Given the description of an element on the screen output the (x, y) to click on. 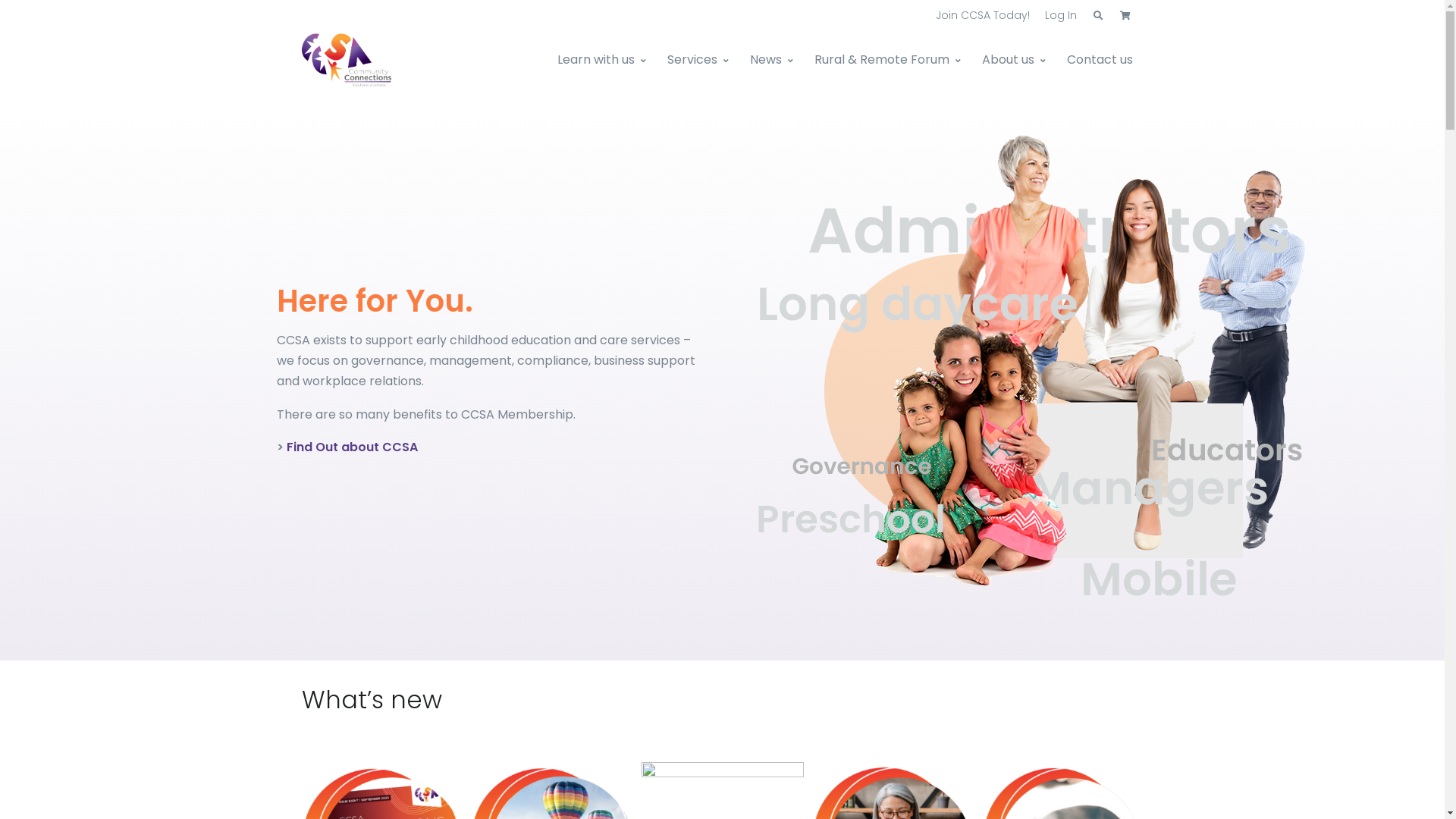
Rural & Remote Forum Element type: text (887, 59)
News Element type: text (770, 59)
About us Element type: text (1012, 59)
Contact us Element type: text (1098, 59)
Learn with us Element type: text (605, 59)
Services Element type: text (697, 59)
Find Out about CCSA Element type: text (351, 446)
View your shopping cart Element type: hover (1125, 15)
Join CCSA Today! Element type: text (982, 14)
Log In Element type: text (1060, 14)
